Given the description of an element on the screen output the (x, y) to click on. 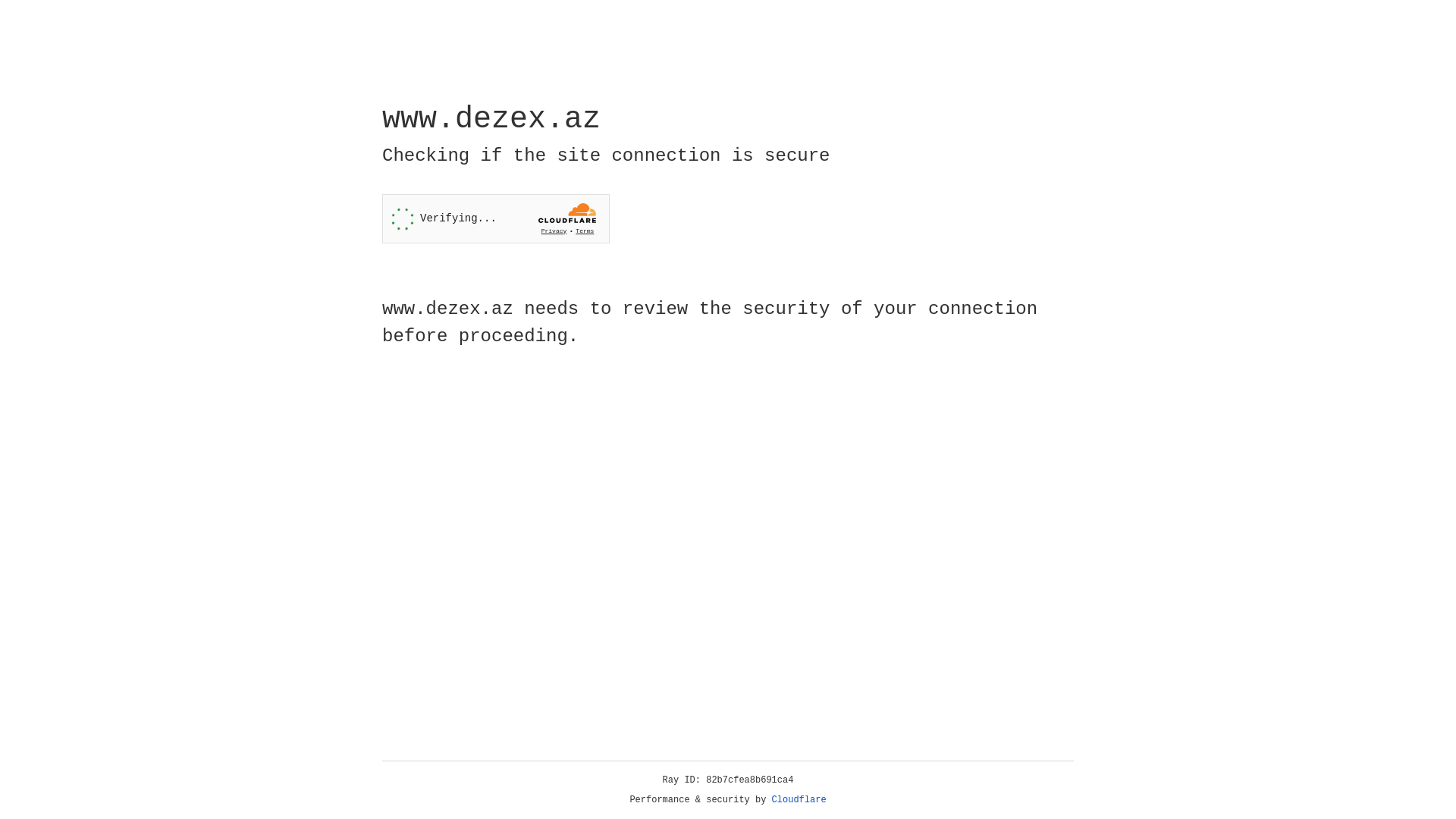
Widget containing a Cloudflare security challenge Element type: hover (495, 218)
Cloudflare Element type: text (798, 799)
